Given the description of an element on the screen output the (x, y) to click on. 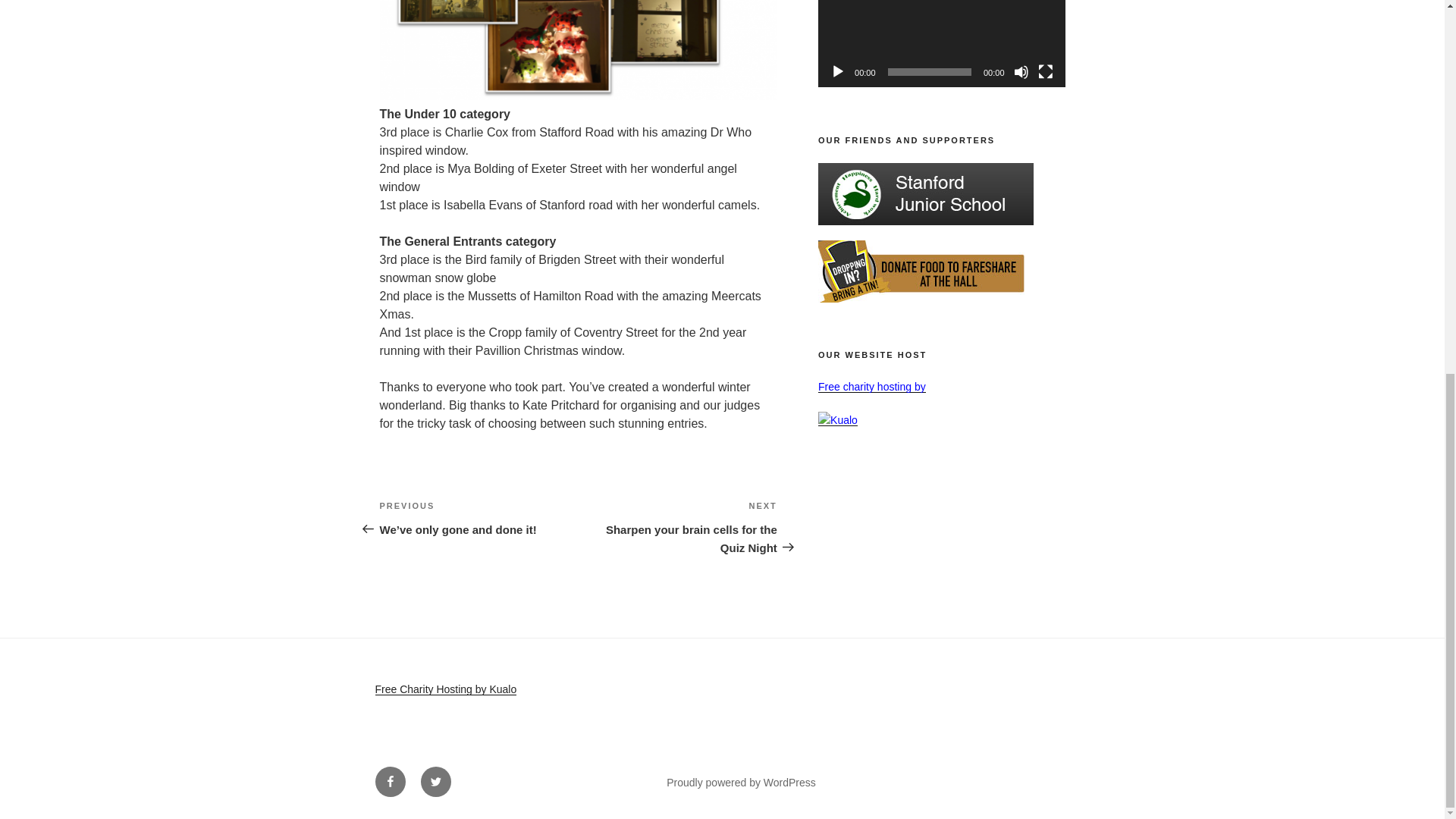
Fullscreen (1044, 71)
Free Charity Hosting (445, 689)
Play (837, 71)
Mute (1020, 71)
